Given the description of an element on the screen output the (x, y) to click on. 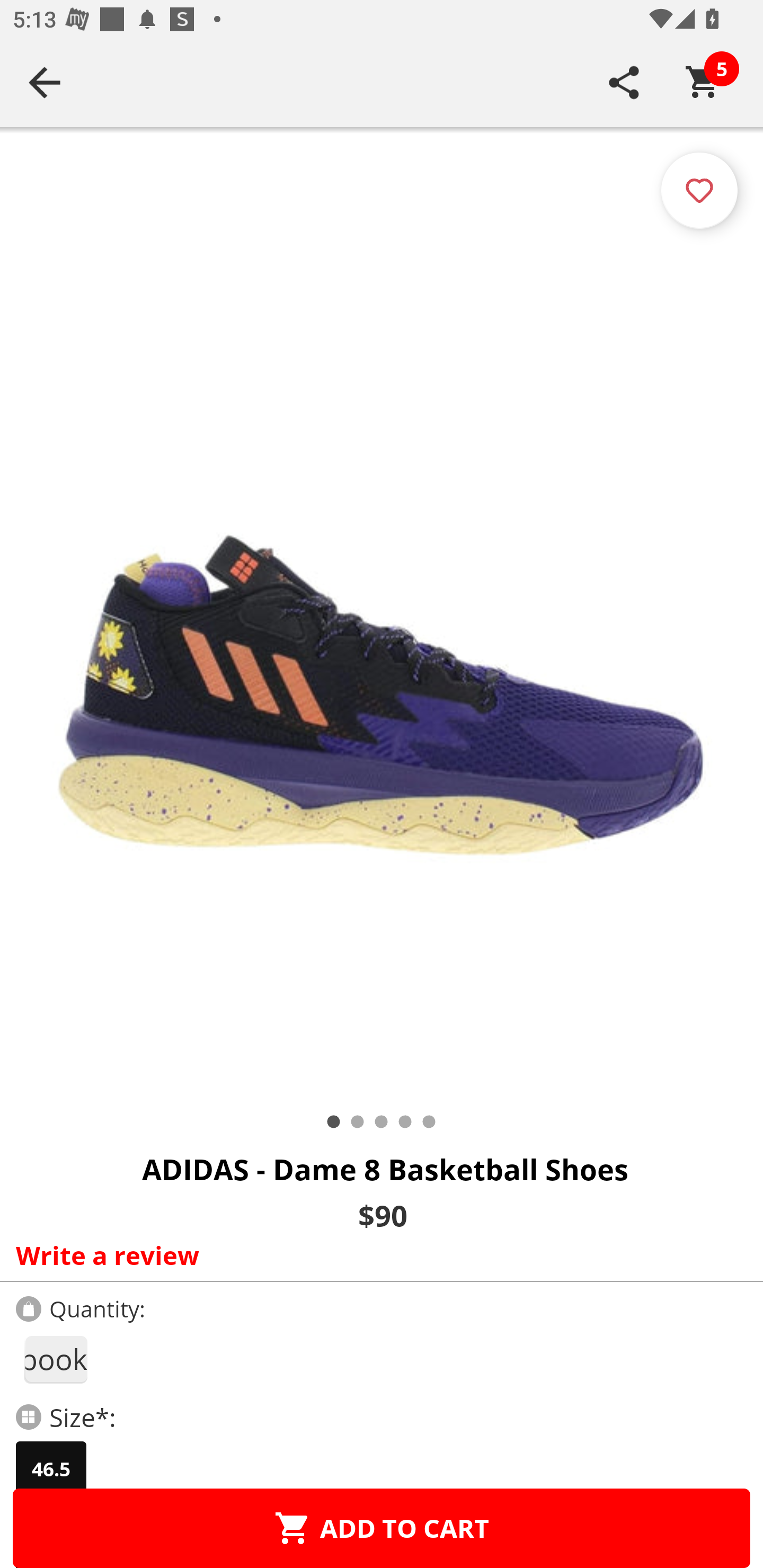
Navigate up (44, 82)
SHARE (623, 82)
Cart (703, 81)
Write a review (377, 1255)
1notebook (55, 1358)
46.5 (51, 1468)
ADD TO CART (381, 1528)
